Given the description of an element on the screen output the (x, y) to click on. 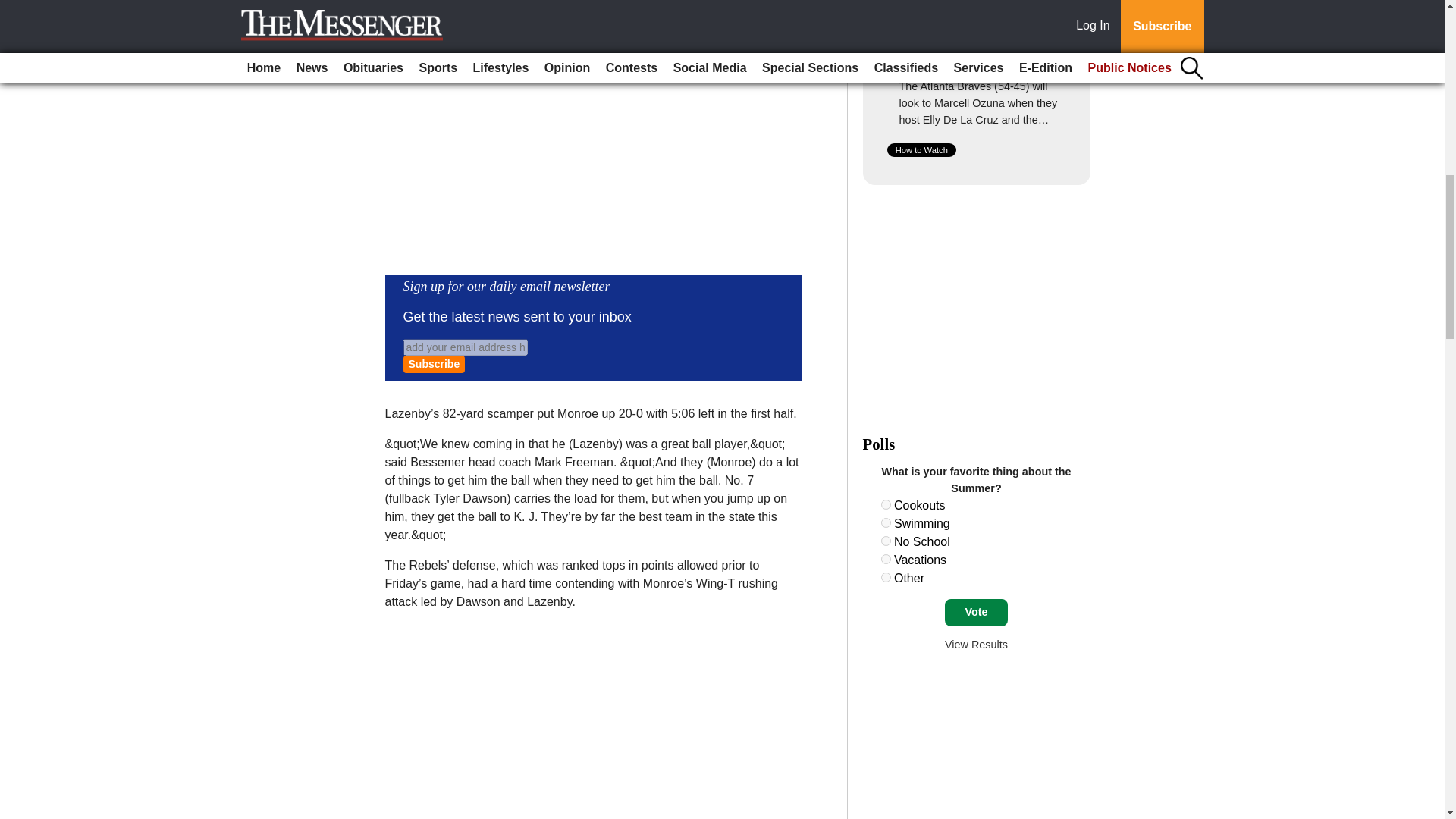
7275 (885, 522)
7274 (885, 504)
7278 (885, 577)
7276 (885, 541)
View Results Of This Poll (975, 644)
7277 (885, 559)
   Vote    (975, 612)
Subscribe (434, 364)
